Given the description of an element on the screen output the (x, y) to click on. 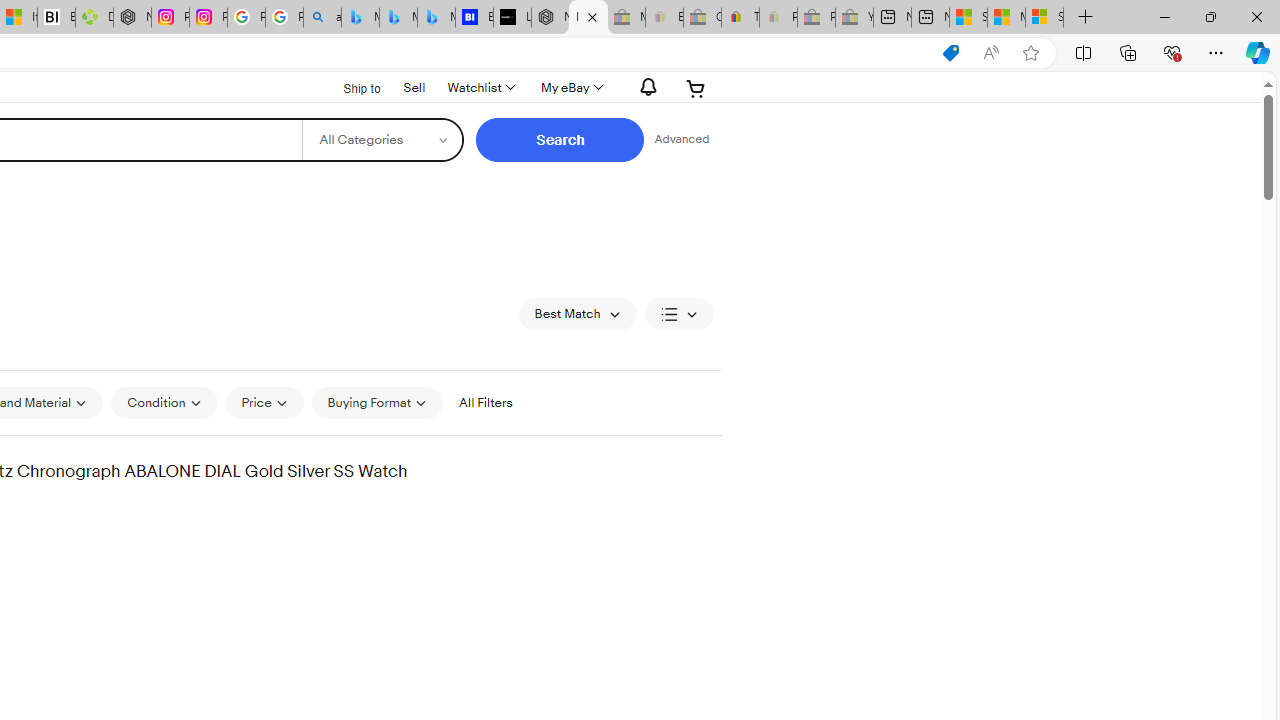
Payments Terms of Use | eBay.com - Sleeping (778, 17)
All Filters (485, 403)
Advanced Search (681, 139)
Ship to (349, 89)
Price (264, 402)
Microsoft Bing Travel - Flights from Hong Kong to Bangkok (359, 17)
Ship to (349, 86)
alabama high school quarterback dies - Search (321, 17)
Yard, Garden & Outdoor Living - Sleeping (853, 17)
